Given the description of an element on the screen output the (x, y) to click on. 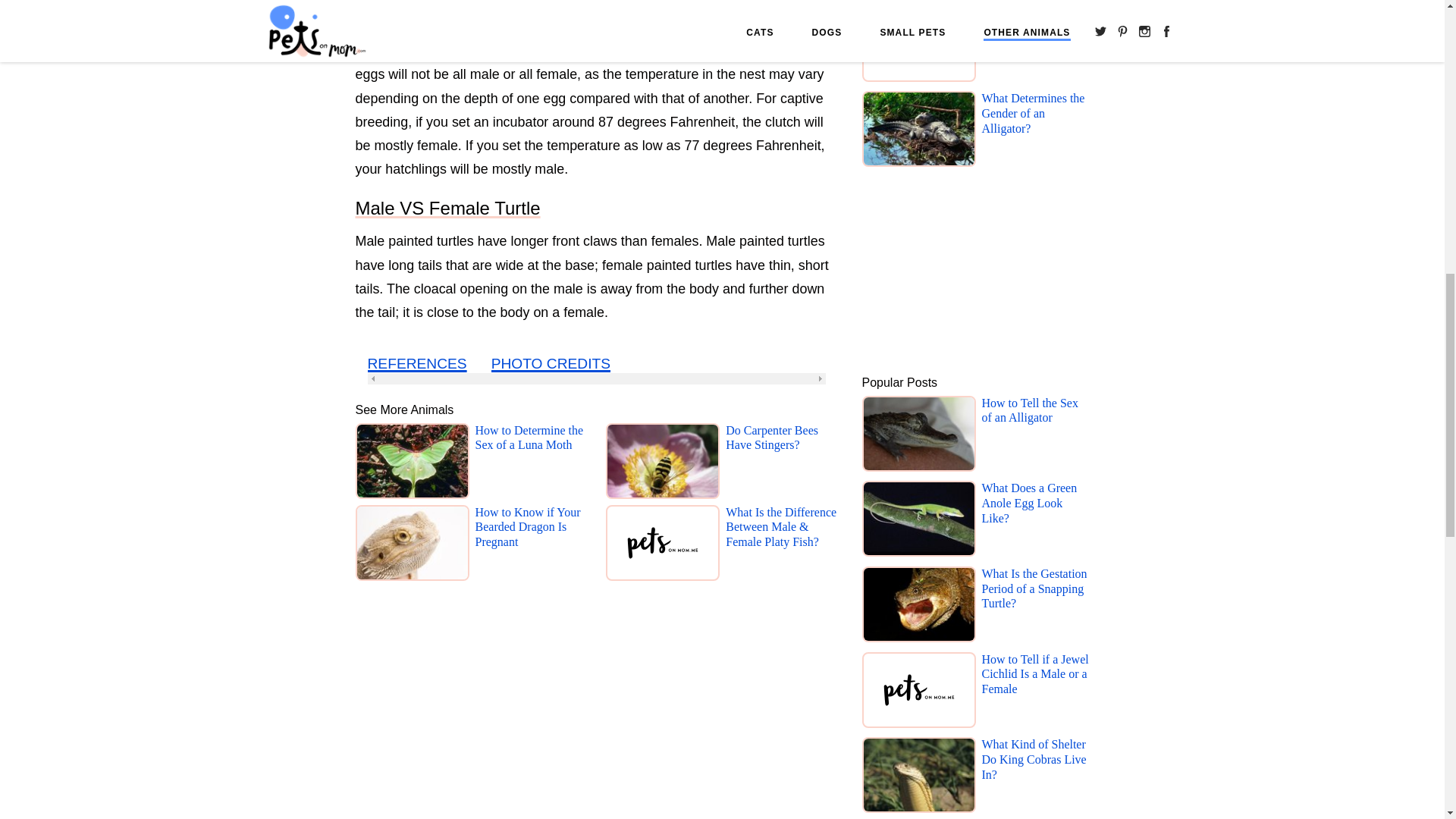
How to Know if Your Bearded Dragon Is Pregnant (530, 546)
Do Carpenter Bees Have Stingers? (781, 464)
How to Determine the Sex of a Luna Moth (530, 464)
